Given the description of an element on the screen output the (x, y) to click on. 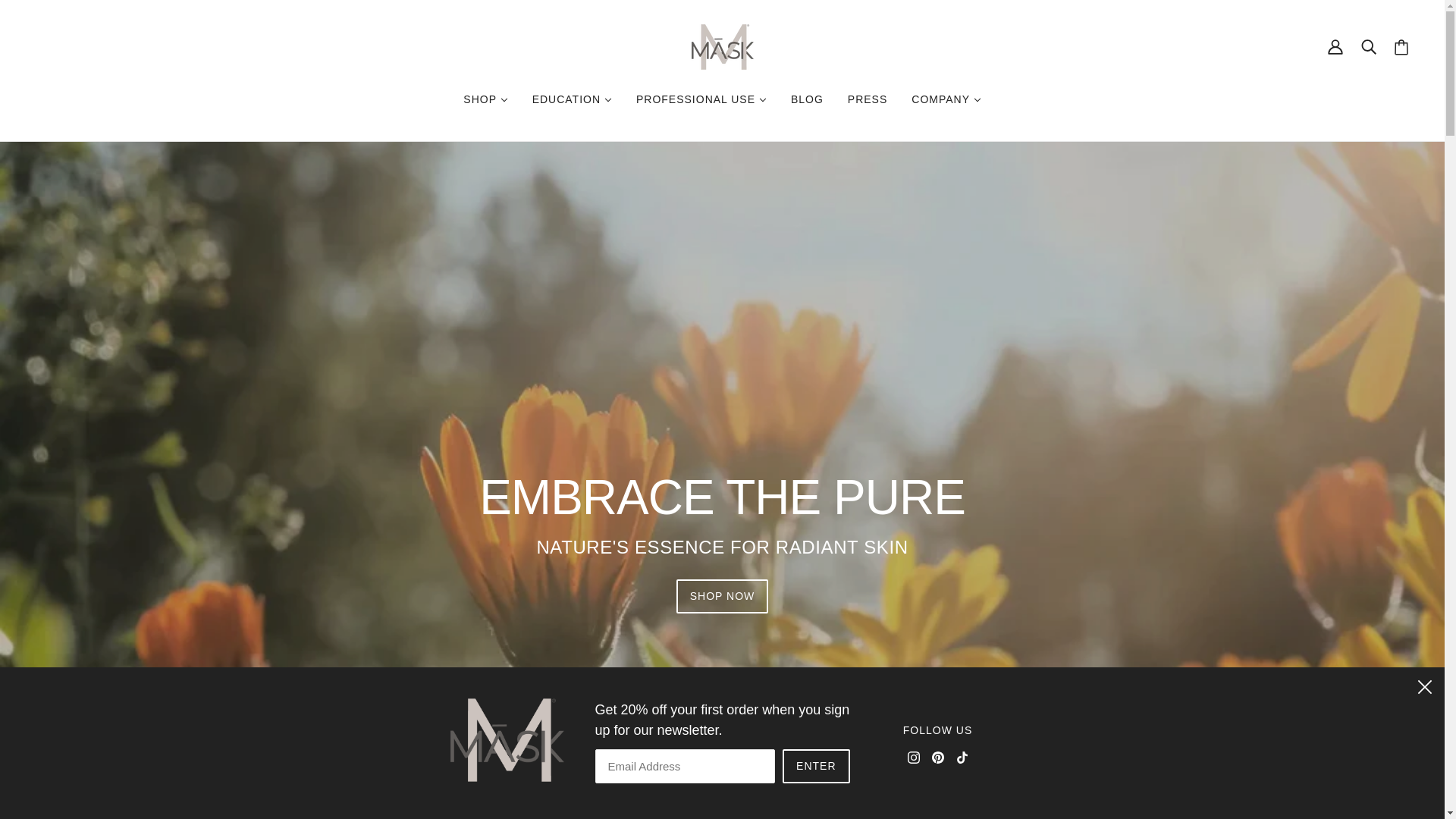
PRESS (867, 99)
BLOG (806, 99)
EDUCATION  (571, 99)
PROFESSIONAL USE  (701, 99)
SHOP NOW (722, 596)
Mask Skin Care (722, 46)
COMPANY  (945, 99)
SHOP  (485, 99)
